Given the description of an element on the screen output the (x, y) to click on. 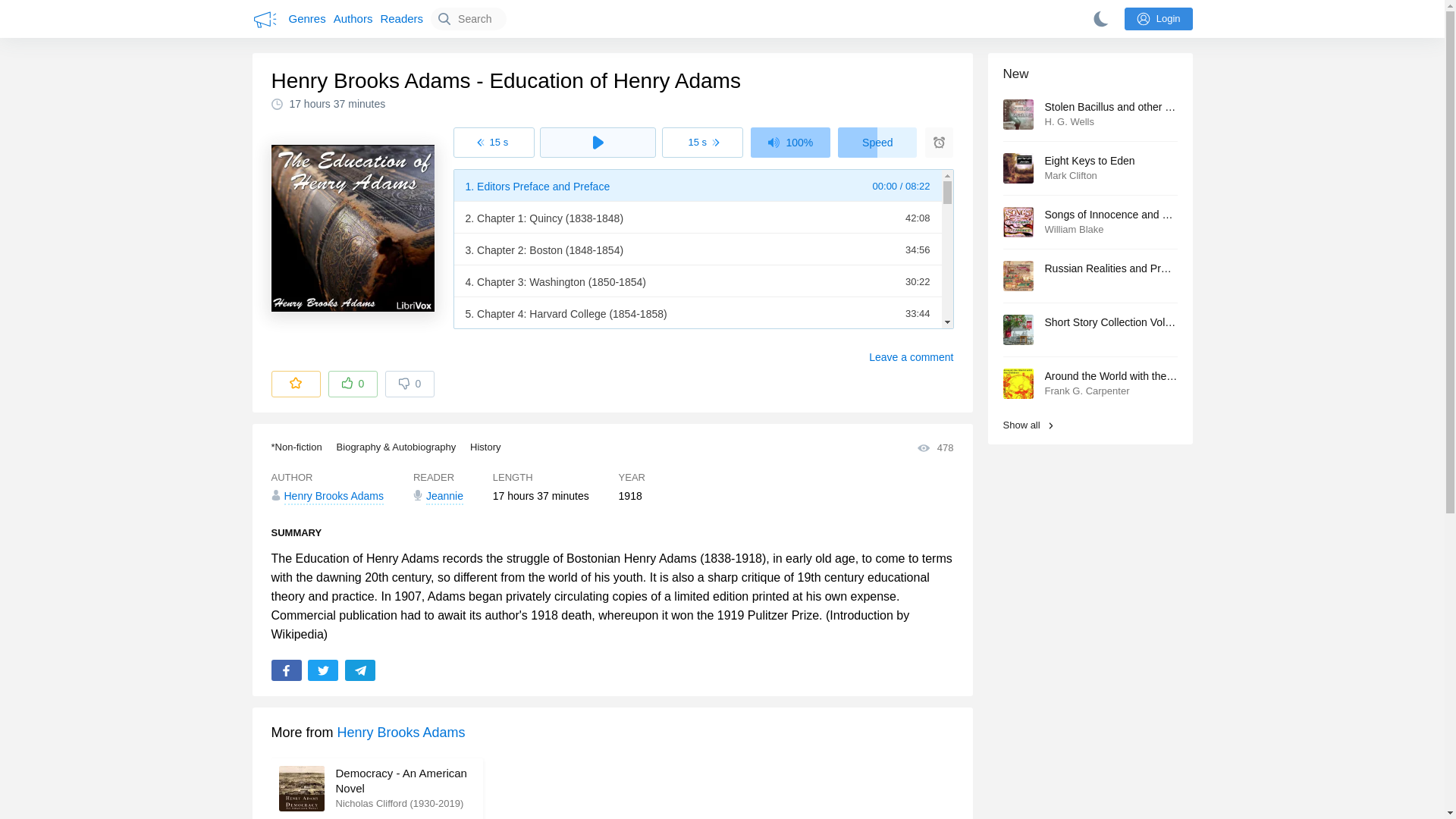
Authors (352, 18)
Jeannie (438, 495)
Genres (306, 18)
Leave a comment (911, 357)
Henry Brooks Adams (401, 732)
History (485, 447)
Readers (401, 18)
1x (783, 142)
15 s (702, 142)
15 s (493, 142)
